Given the description of an element on the screen output the (x, y) to click on. 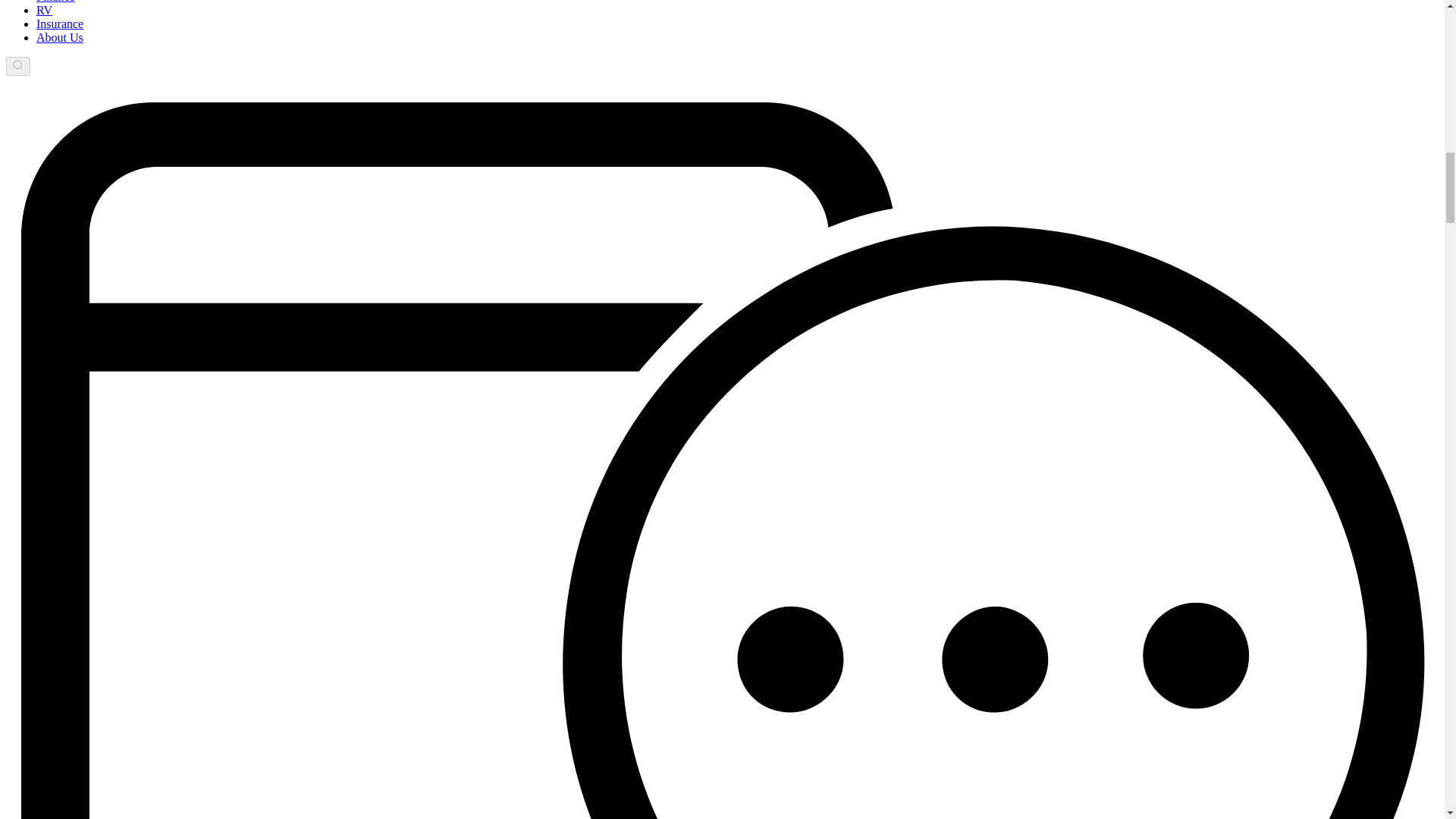
Finance (55, 1)
RV (44, 10)
Insurance (59, 23)
About Us (59, 37)
